Given the description of an element on the screen output the (x, y) to click on. 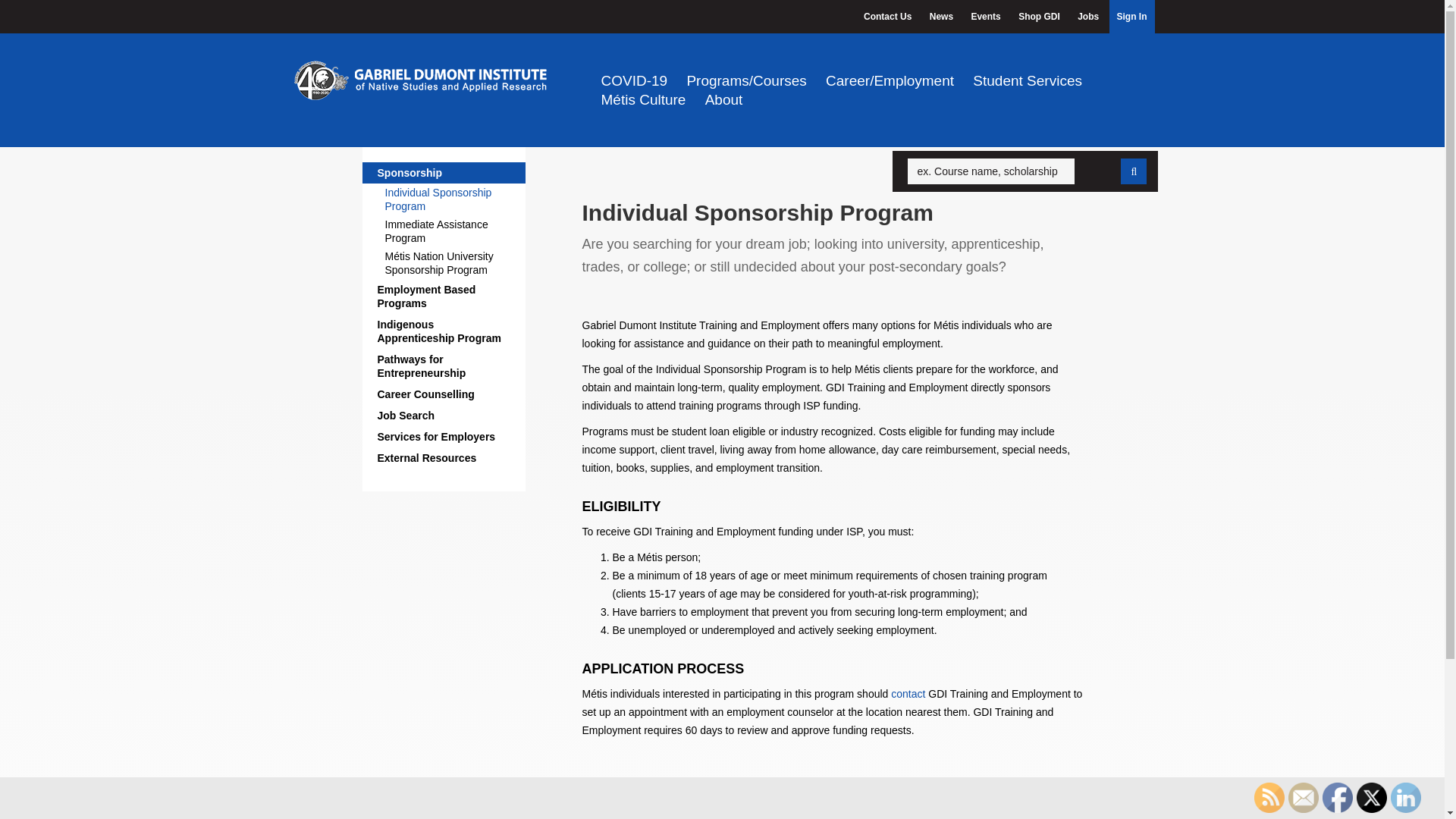
LinkedIn (1405, 797)
Events (984, 16)
Facebook (1337, 797)
Follow by Email (1303, 797)
Jobs (1088, 16)
Immediate Assistance Program (451, 230)
Twitter (1371, 797)
About (723, 99)
RSS (1268, 797)
Sponsorship (443, 172)
Pathways for Entrepreneurship (443, 366)
Career Counselling (443, 394)
Shop GDI (1038, 16)
Student Services (1026, 80)
Employment Based Programs (443, 296)
